Given the description of an element on the screen output the (x, y) to click on. 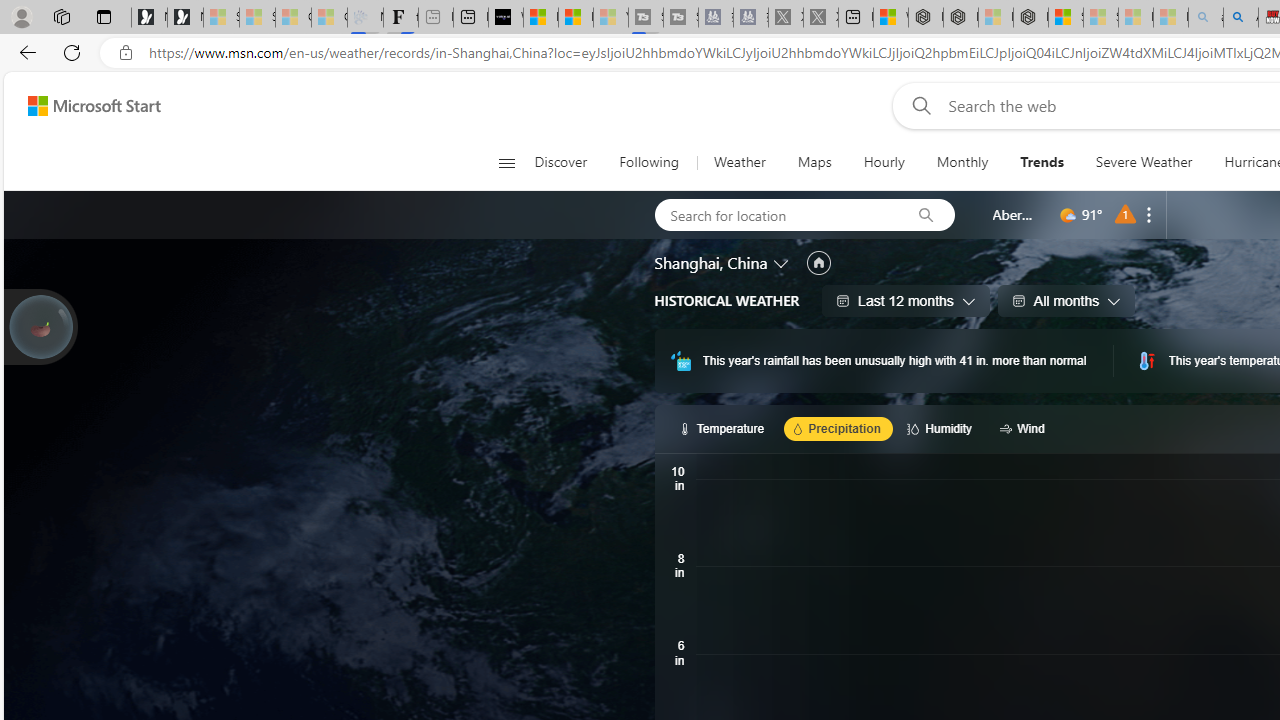
Maps (814, 162)
Hourly (884, 162)
Monthly (962, 162)
Severe Weather (1143, 162)
All months (1065, 300)
Trends (1041, 162)
